Given the description of an element on the screen output the (x, y) to click on. 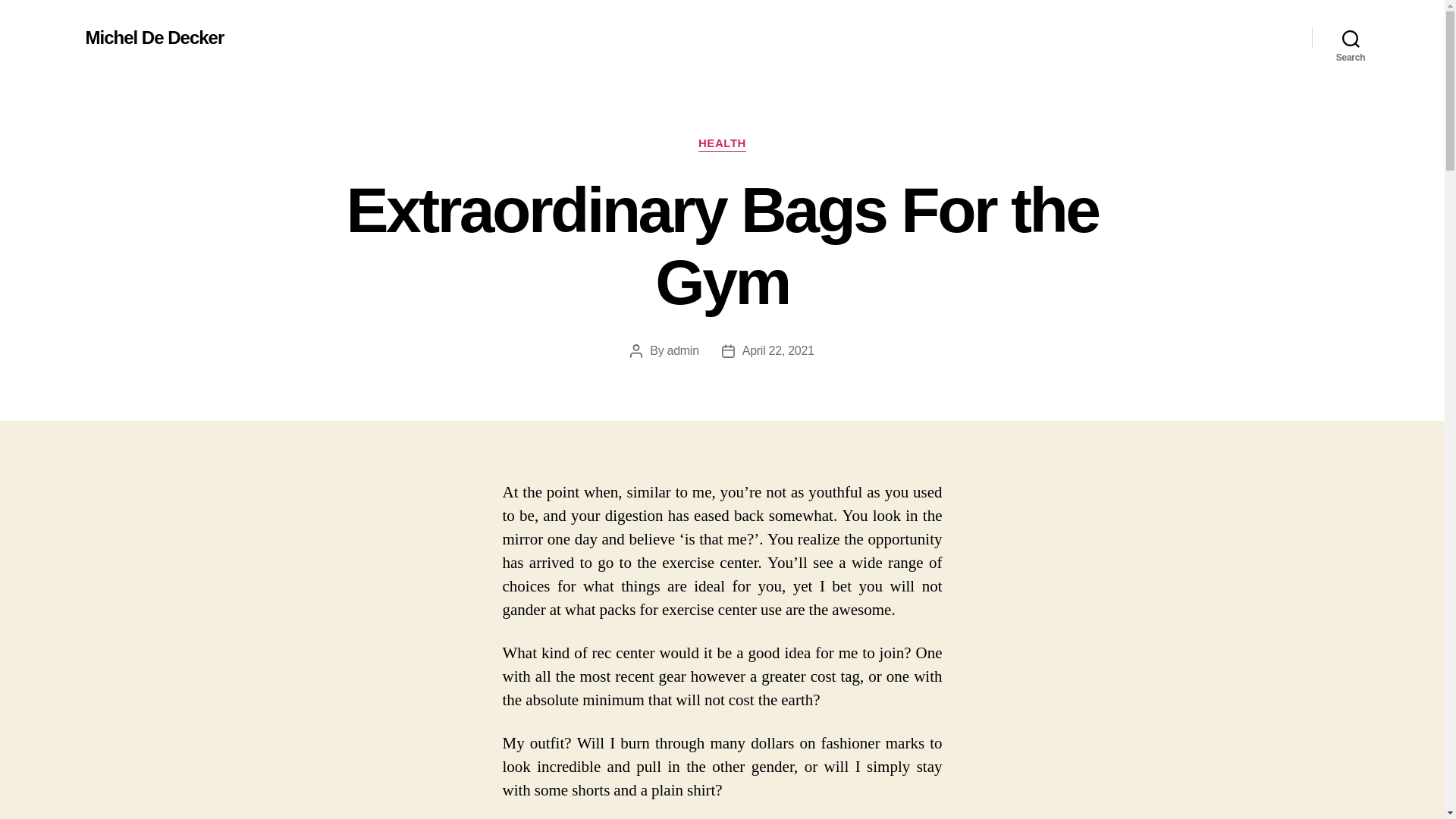
Michel De Decker (154, 37)
HEALTH (721, 143)
Search (1350, 37)
admin (682, 350)
April 22, 2021 (777, 350)
